Given the description of an element on the screen output the (x, y) to click on. 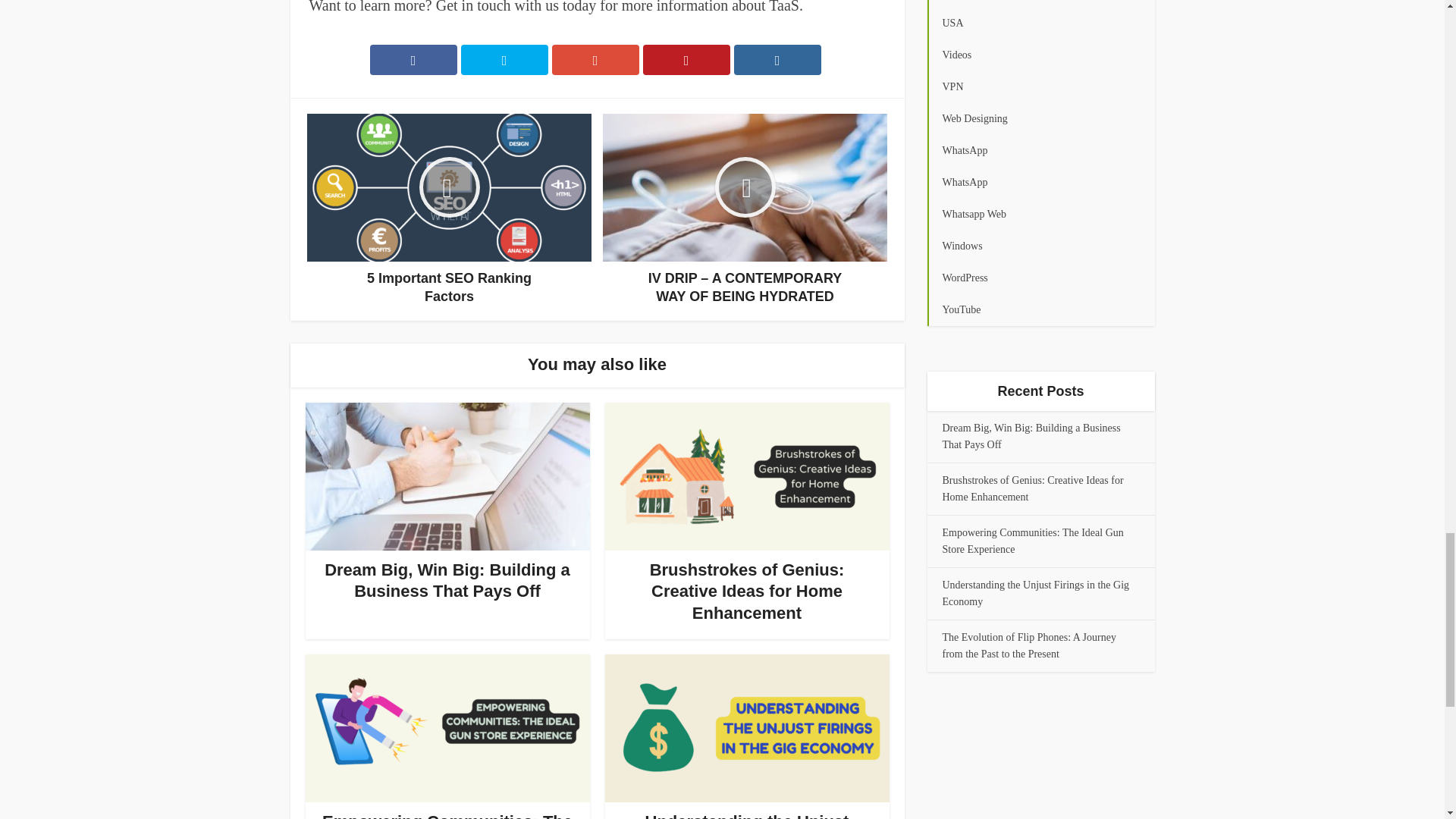
Brushstrokes of Genius: Creative Ideas for Home Enhancement (746, 591)
Empowering Communities: The Ideal Gun Store Experience (446, 815)
Empowering Communities: The Ideal Gun Store Experience (446, 815)
Dream Big, Win Big: Building a Business That Pays Off (447, 580)
Understanding the Unjust Firings in the Gig Economy (747, 815)
Dream Big, Win Big: Building a Business That Pays Off (447, 580)
5 Important SEO Ranking Factors (449, 209)
Understanding the Unjust Firings in the Gig Economy (747, 815)
Brushstrokes of Genius: Creative Ideas for Home Enhancement (746, 591)
